Given the description of an element on the screen output the (x, y) to click on. 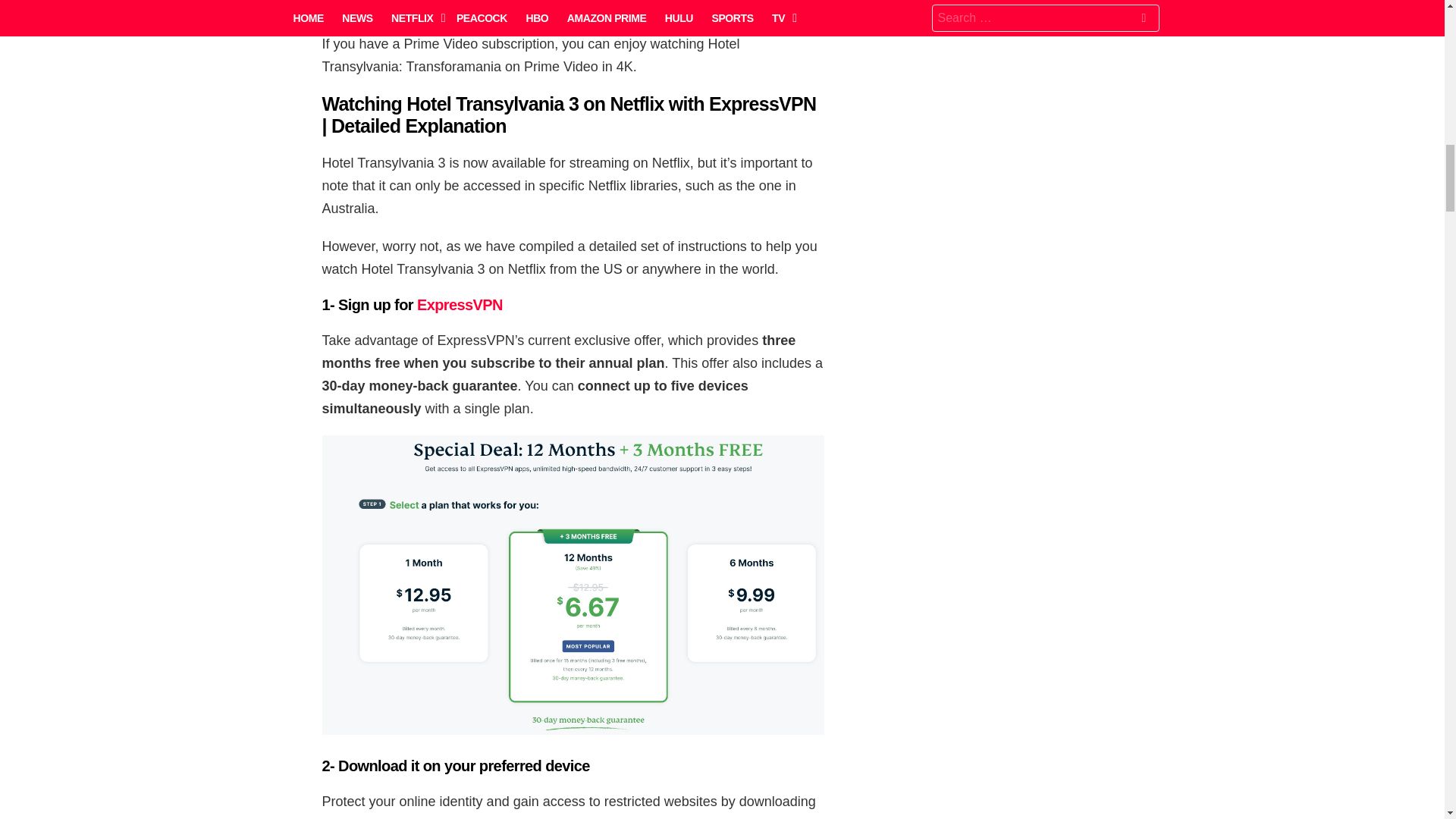
ExpressVPN (459, 304)
